Given the description of an element on the screen output the (x, y) to click on. 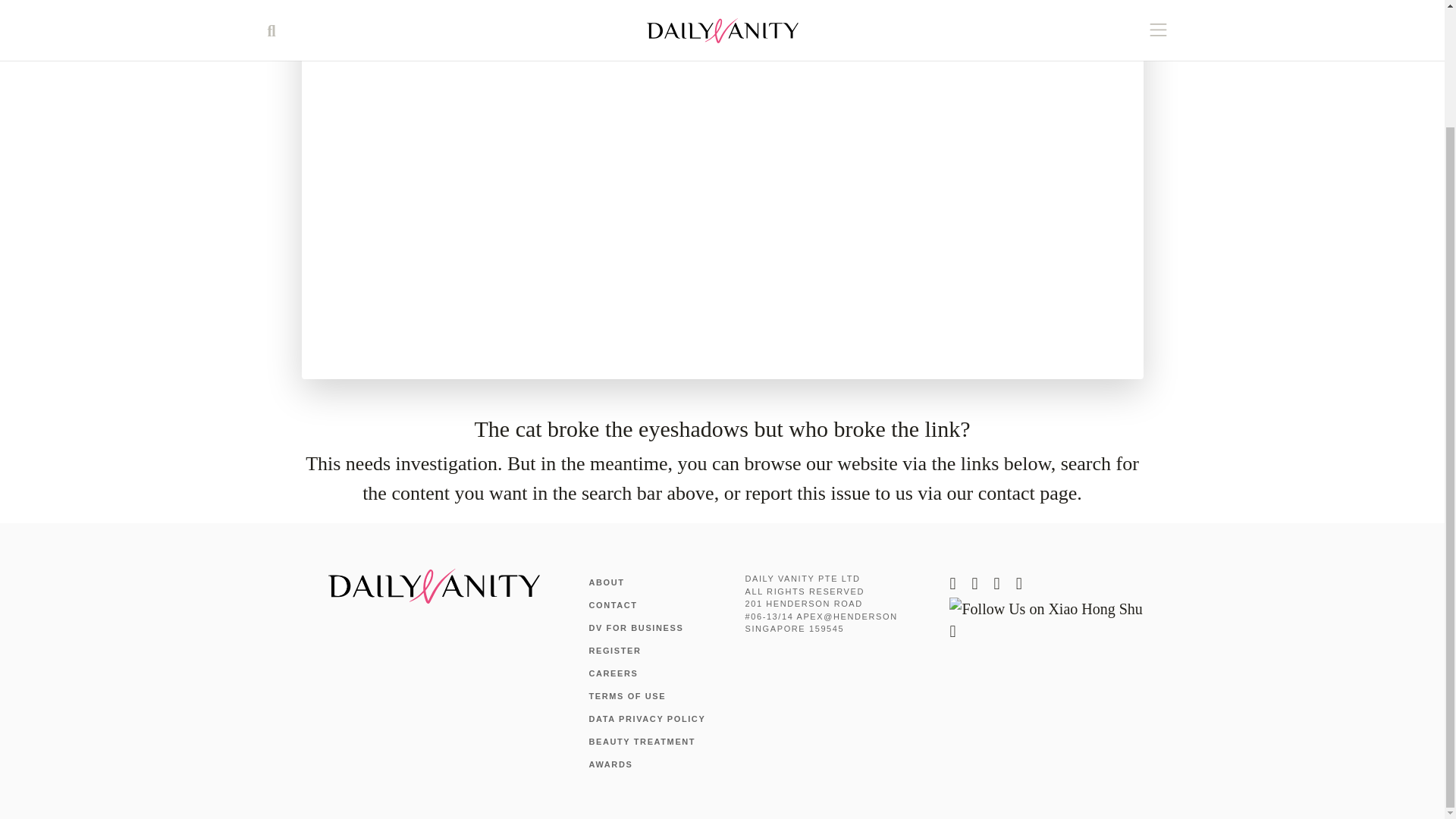
CONTACT (612, 604)
TERMS OF USE (626, 696)
Follow Us on Xiao Hong Shu (1045, 606)
ABOUT (606, 582)
DATA PRIVACY POLICY (646, 718)
contact page (1027, 493)
CAREERS (612, 673)
DV FOR BUSINESS (635, 627)
BEAUTY TREATMENT AWARDS (641, 753)
REGISTER (614, 650)
